Given the description of an element on the screen output the (x, y) to click on. 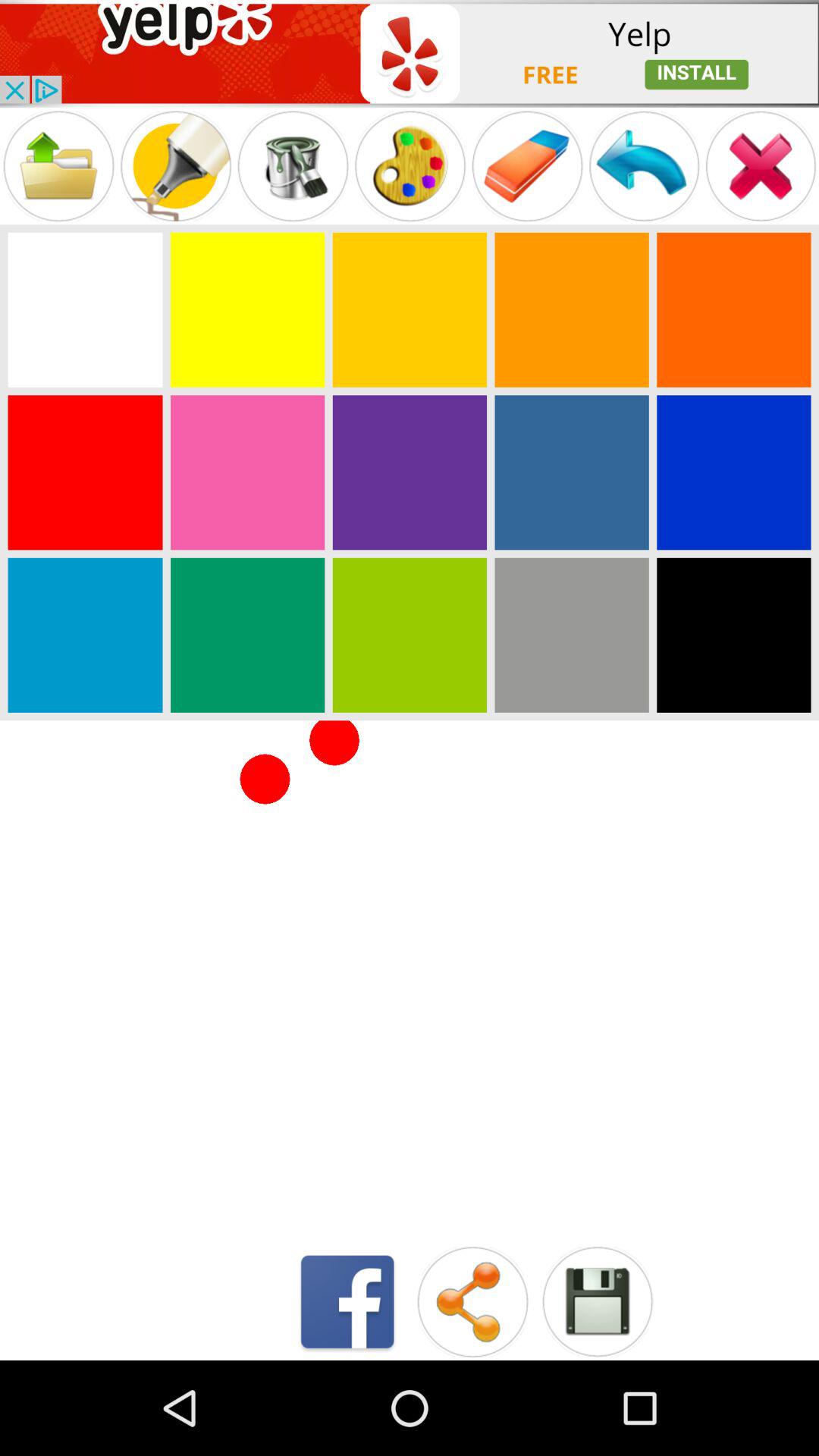
go to main menu option (643, 165)
